Given the description of an element on the screen output the (x, y) to click on. 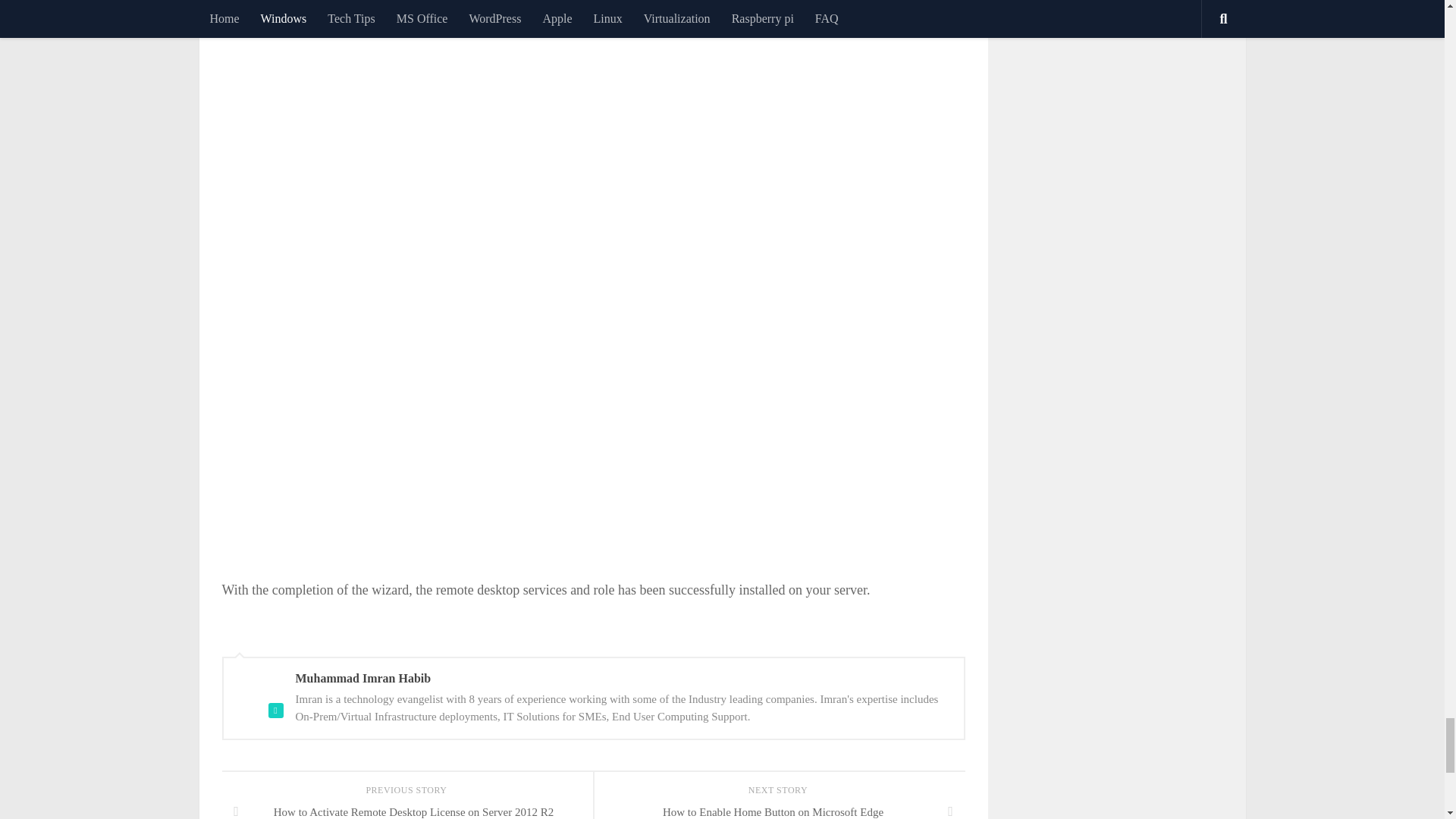
How to Activate Remote Desktop License on Server 2012 R2 (406, 809)
How to Enable Home Button on Microsoft Edge (777, 809)
